Given the description of an element on the screen output the (x, y) to click on. 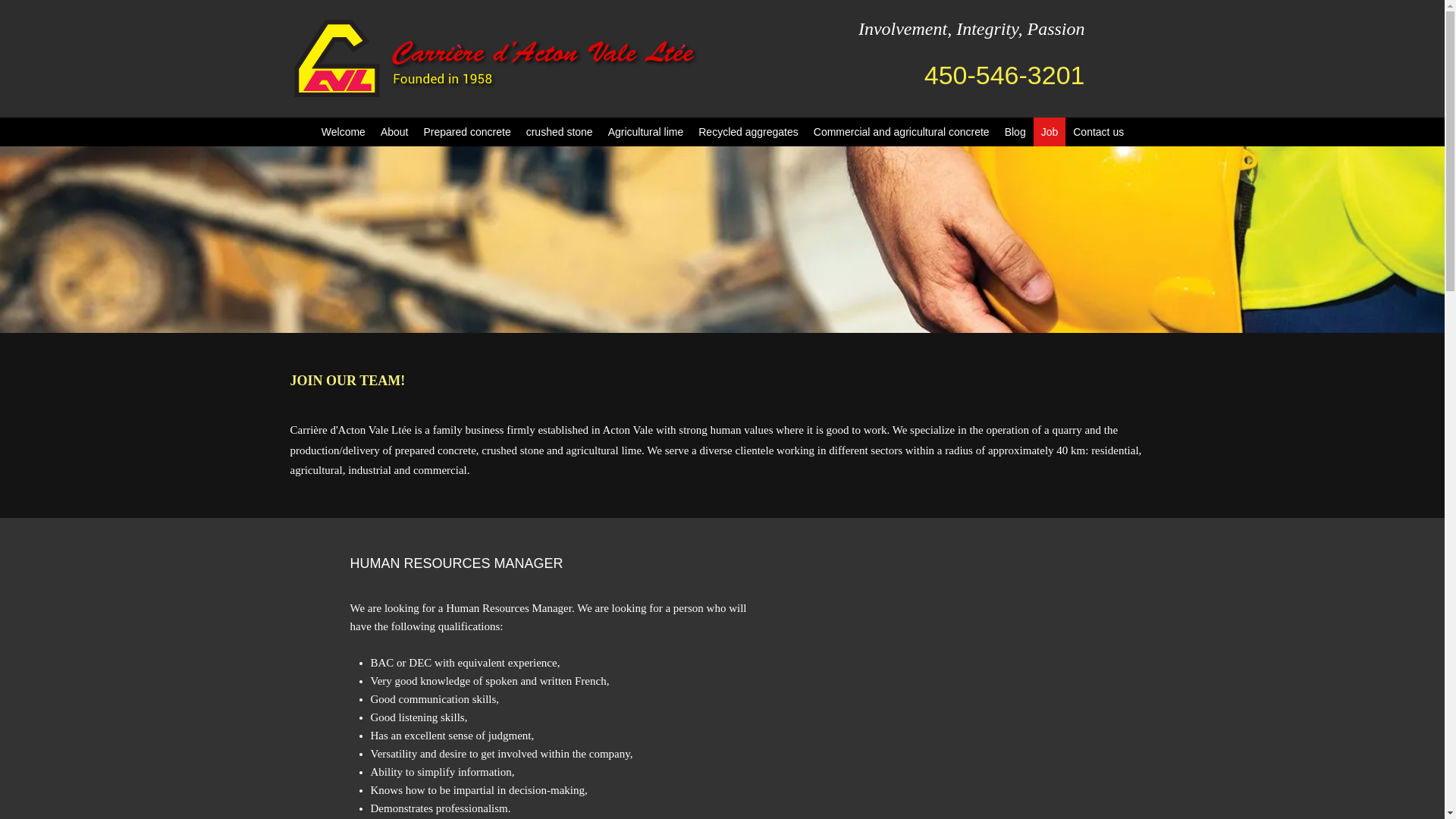
crushed stone (558, 131)
Recycled aggregates (748, 131)
Welcome (343, 131)
Blog (1015, 131)
Prepared concrete (466, 131)
Agricultural lime (645, 131)
Contact us (1098, 131)
Commercial and agricultural concrete (901, 131)
Job (1049, 131)
450-546-3201 (1004, 74)
